Given the description of an element on the screen output the (x, y) to click on. 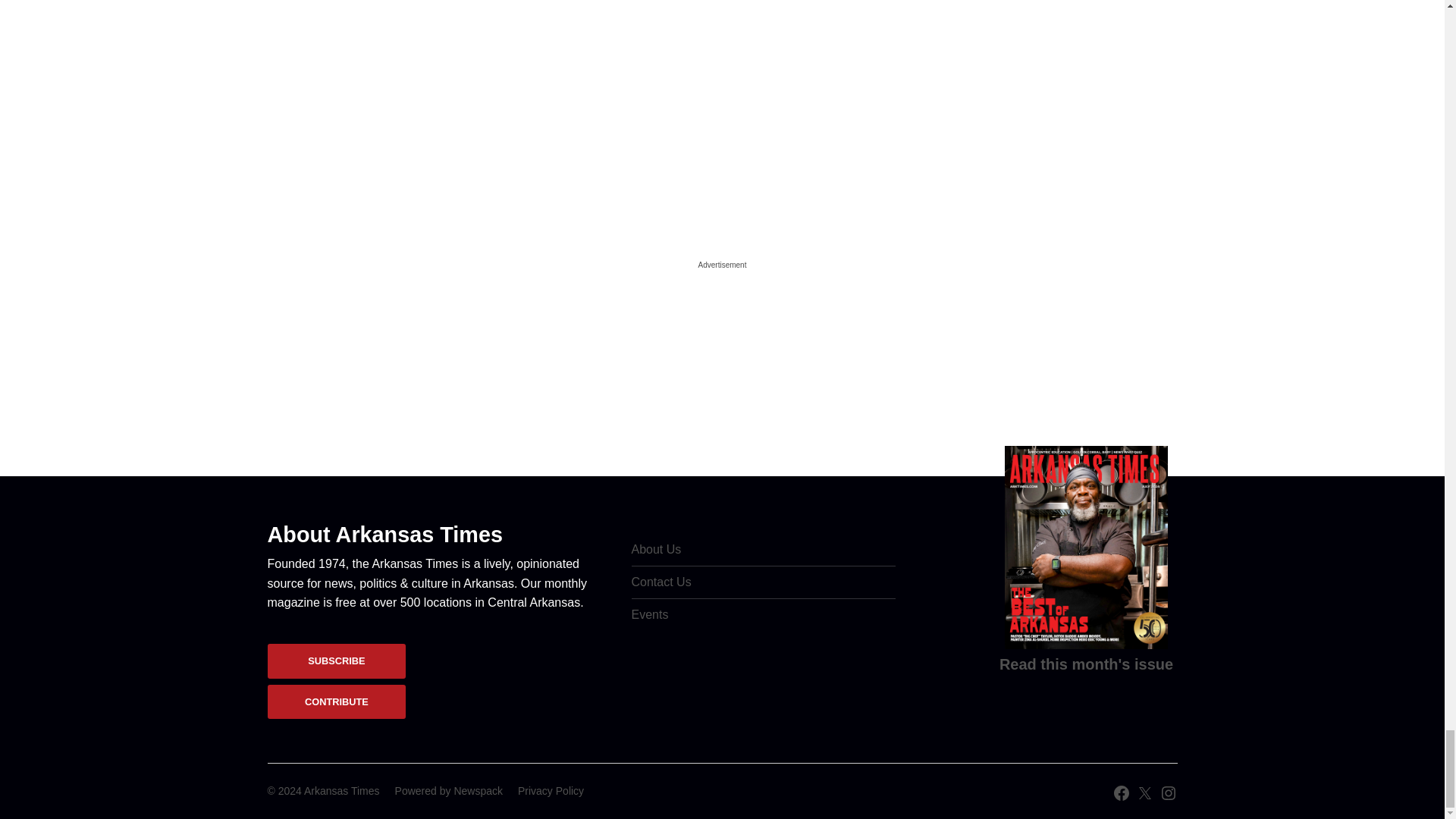
3rd party ad content (721, 369)
3rd party ad content (721, 117)
